Given the description of an element on the screen output the (x, y) to click on. 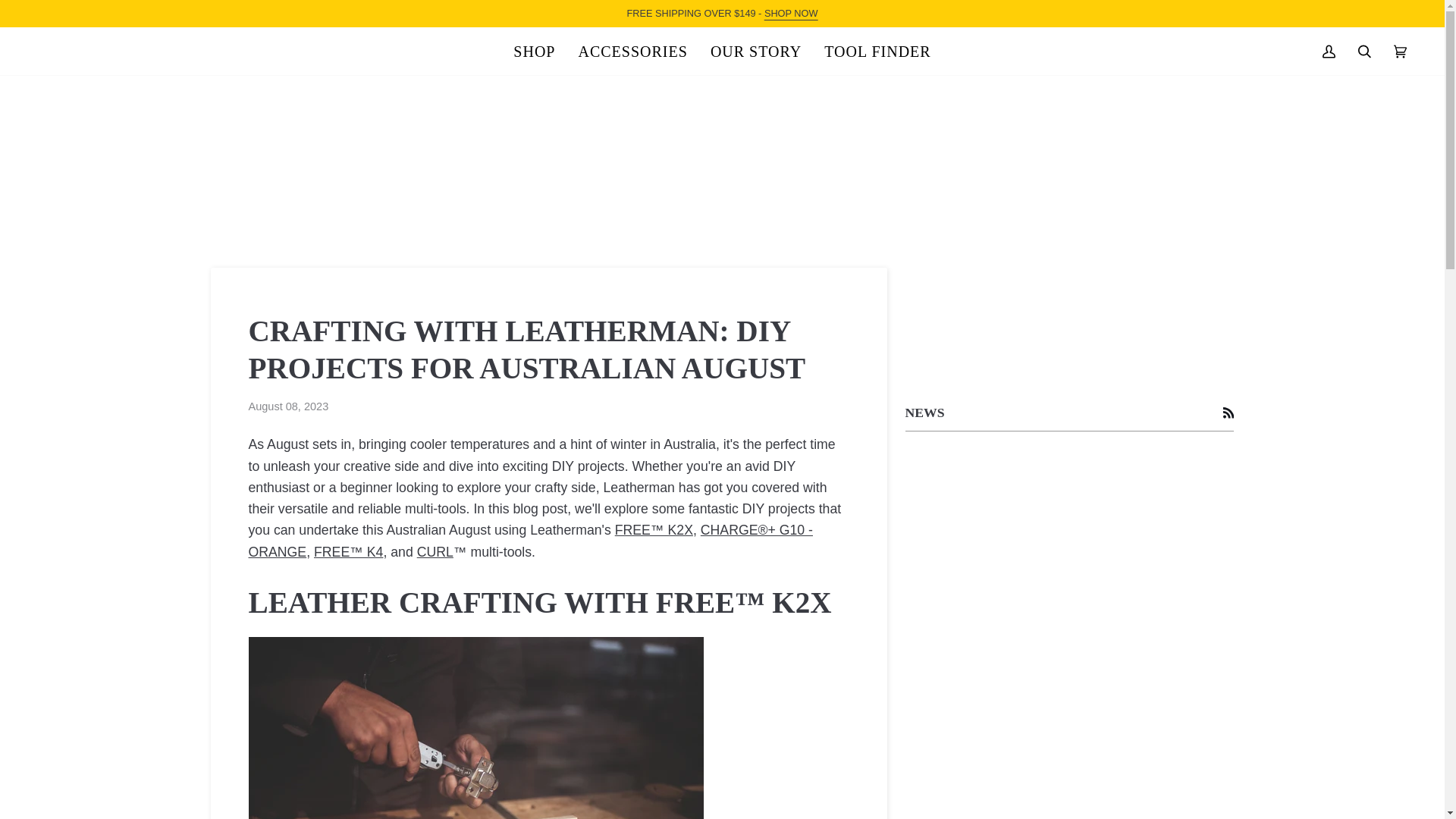
FREE K4 (348, 551)
Curl (434, 551)
SHOP (534, 51)
FREE K2X (653, 529)
Leatherman Best Sellers (791, 12)
SHOP NOW (791, 12)
